Given the description of an element on the screen output the (x, y) to click on. 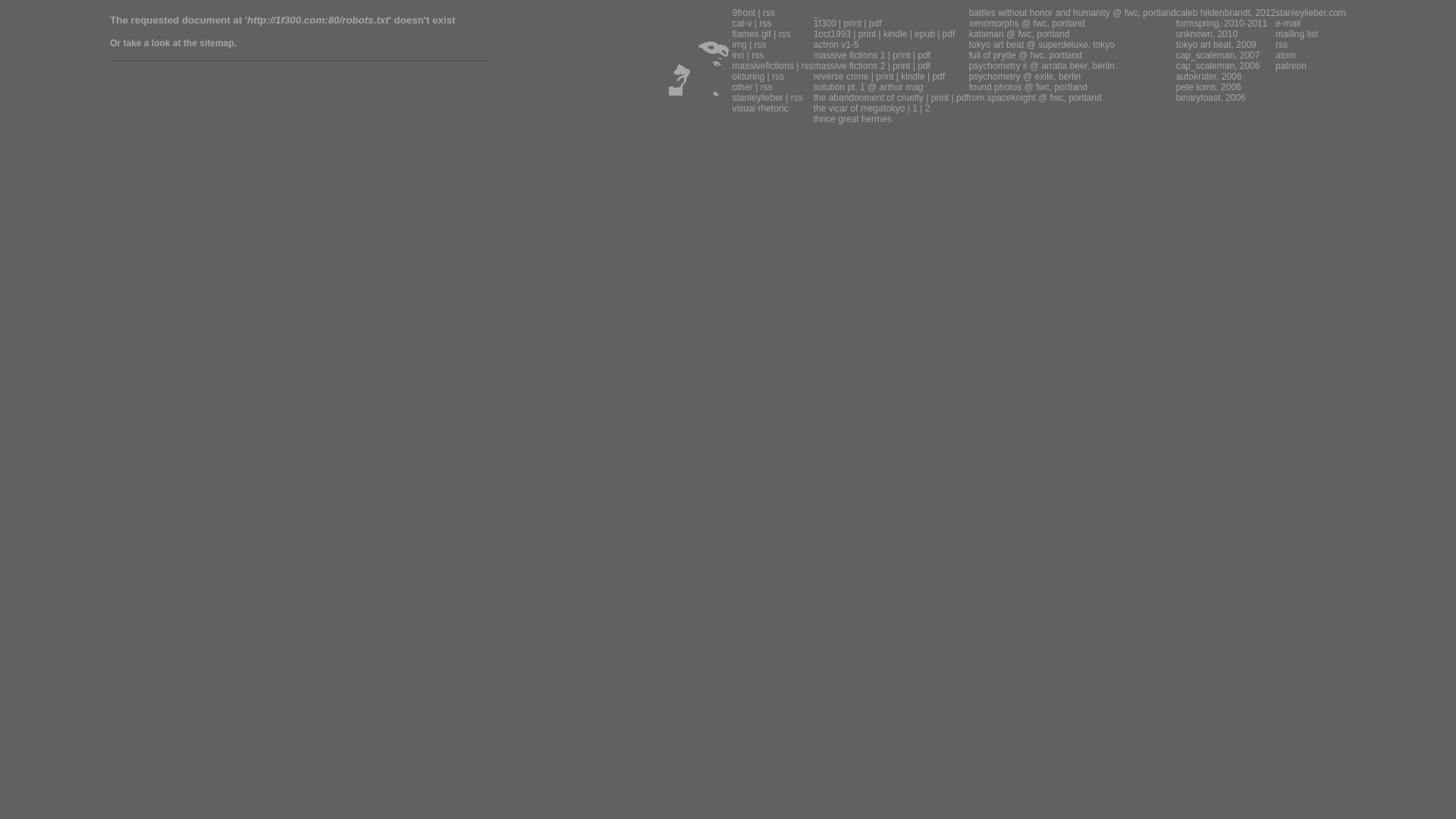
patreon Element type: text (1290, 65)
rss Element type: text (807, 65)
other Element type: text (741, 86)
1f300 Element type: text (824, 23)
pdf Element type: text (948, 33)
print Element type: text (851, 23)
pdf Element type: text (875, 23)
tokyo art beat @ superdeluxe, tokyo Element type: text (1041, 44)
1oct1993 Element type: text (831, 33)
1 Element type: text (914, 108)
rss Element type: text (796, 97)
reverse crime Element type: text (841, 76)
stanleylieber Element type: text (756, 97)
kindle Element type: text (894, 33)
pete toms, 2006 Element type: text (1208, 86)
flames.gif Element type: text (750, 33)
rom spaceknight @ fwc, portland Element type: text (1035, 97)
rss Element type: text (1281, 44)
solution pt. 1 @ arthur mag Element type: text (868, 86)
9front Element type: text (743, 12)
unknown, 2010 Element type: text (1206, 33)
rss Element type: text (784, 33)
autokrater, 2006 Element type: text (1209, 76)
print Element type: text (866, 33)
rss Element type: text (766, 86)
pdf Element type: text (937, 76)
tokyo art beat, 2009 Element type: text (1216, 44)
full of pryde @ fwc, portland Element type: text (1025, 55)
print Element type: text (901, 55)
formspring, 2010-2011 Element type: text (1221, 23)
rss Element type: text (757, 55)
rss Element type: text (760, 44)
atom Element type: text (1285, 55)
rss Element type: text (765, 23)
e-mail Element type: text (1287, 23)
img Element type: text (738, 44)
2 Element type: text (927, 108)
print Element type: text (901, 65)
stanleylieber.com Element type: text (1310, 12)
cat-v Element type: text (741, 23)
psychometry ii @ arratia beer, berlin Element type: text (1041, 65)
thrice great hermes Element type: text (852, 118)
print Element type: text (884, 76)
pdf Element type: text (923, 65)
psychometry @ exile, berlin Element type: text (1025, 76)
xenomorphs @ fwc, portland Element type: text (1027, 23)
rss Element type: text (768, 12)
epub Element type: text (924, 33)
inri Element type: text (737, 55)
cap_scaleman, 2007 Element type: text (1218, 55)
visual rhetoric Element type: text (759, 108)
pdf Element type: text (962, 97)
caleb hildenbrandt, 2012 Element type: text (1225, 12)
rss Element type: text (777, 76)
found photos @ fwc, portland Element type: text (1028, 86)
mailing list Element type: text (1296, 33)
okturing Element type: text (747, 76)
cap_scaleman, 2006 Element type: text (1218, 65)
actron v1-5 Element type: text (836, 44)
battles without honor and humanity @ fwc, portland Element type: text (1072, 12)
massivefictions Element type: text (762, 65)
katamari @ fwc, portland Element type: text (1019, 33)
print Element type: text (939, 97)
kindle Element type: text (912, 76)
pdf Element type: text (923, 55)
sitemap Element type: text (216, 42)
binarytoast, 2006 Element type: text (1210, 97)
_ Element type: text (816, 12)
